Given the description of an element on the screen output the (x, y) to click on. 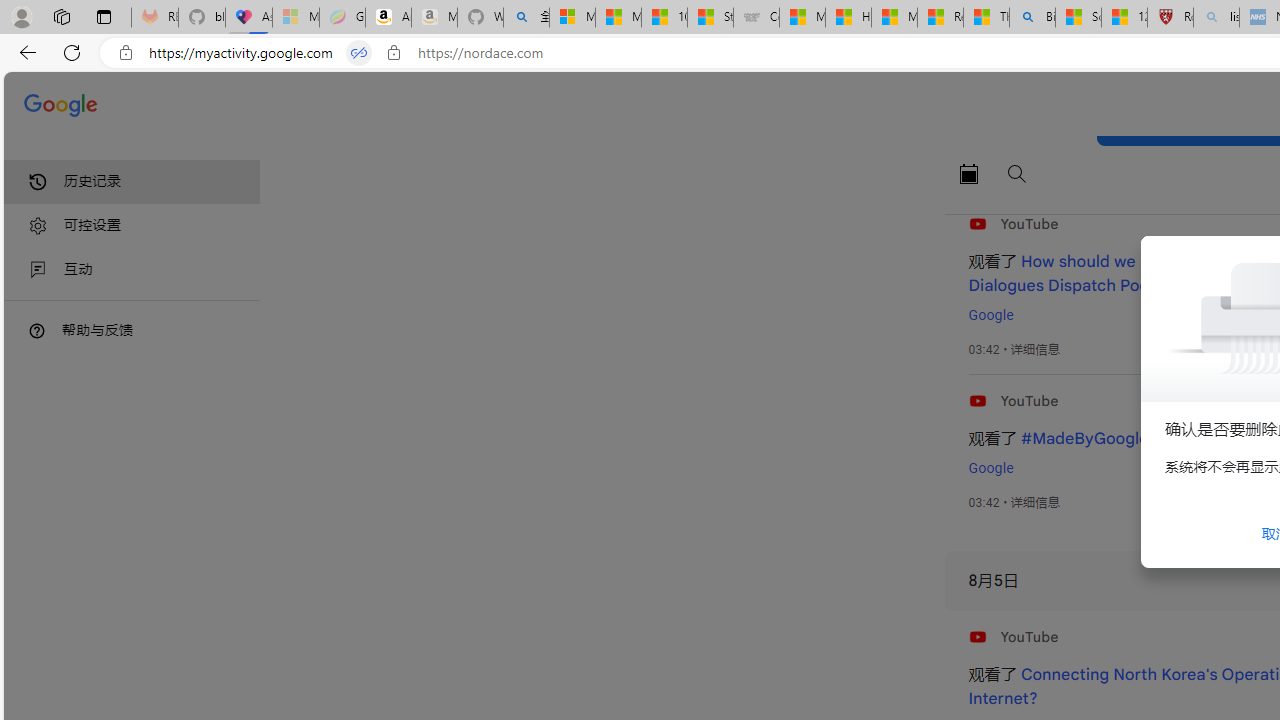
Robert H. Shmerling, MD - Harvard Health (1170, 17)
